Given the description of an element on the screen output the (x, y) to click on. 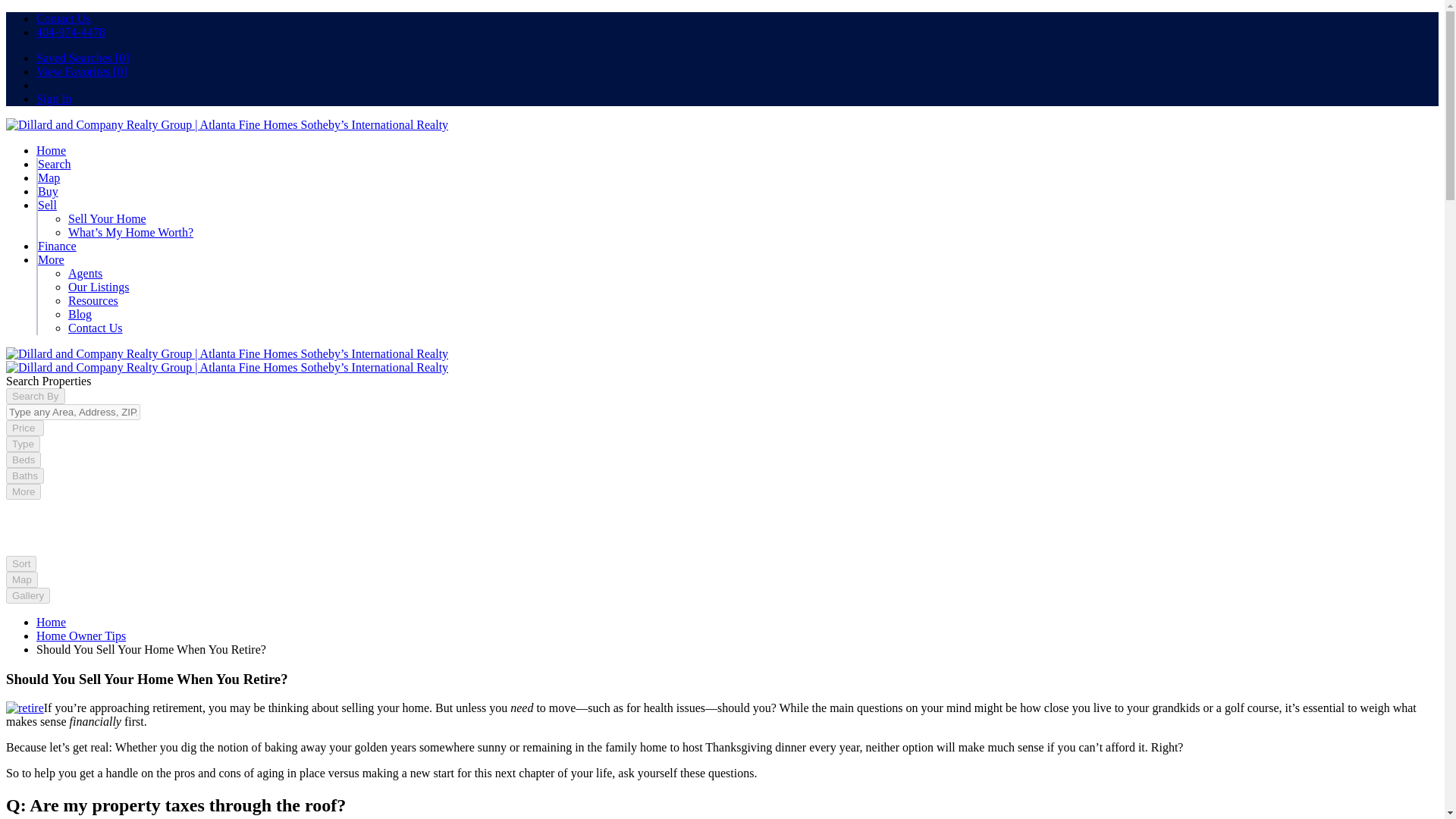
Baths (24, 475)
Map (48, 177)
More (50, 259)
Sell Your Home (107, 218)
Contact Us (95, 327)
Home (50, 150)
Our Listings (98, 286)
Price  (24, 427)
Beds (22, 459)
Home Owner Tips (80, 635)
Sort (20, 563)
Sign In (53, 98)
Home (50, 621)
Contact Us (63, 18)
Sell (46, 205)
